Given the description of an element on the screen output the (x, y) to click on. 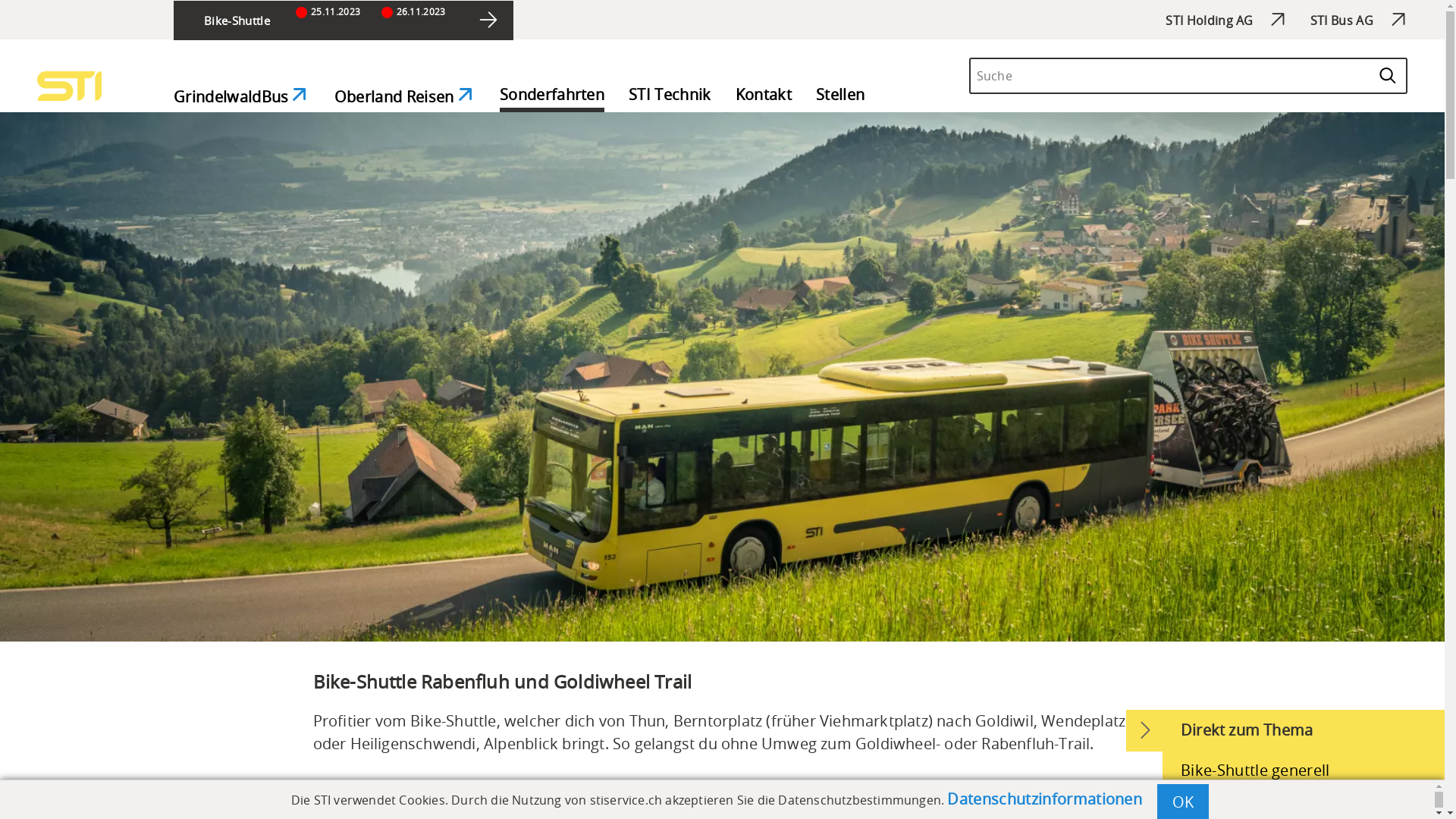
Zur Startseite Element type: hover (69, 85)
Datenschutzinformationen Element type: text (1044, 798)
Sonderfahrten Element type: text (551, 96)
STI Holding AG Element type: text (1214, 20)
Suchen Element type: text (1395, 72)
Bike-Shuttle generell Element type: text (1303, 769)
GrindelwaldBus Element type: text (241, 97)
Stellen Element type: text (839, 96)
Bild Element type: hover (722, 376)
Bike-Shuttle
25.11.2023

26.11.2023 Element type: text (343, 20)
STI Bus AG Element type: text (1347, 20)
Oberland Reisen Element type: text (404, 97)
Kontakt Element type: text (763, 96)
STI Technik Element type: text (669, 96)
